Given the description of an element on the screen output the (x, y) to click on. 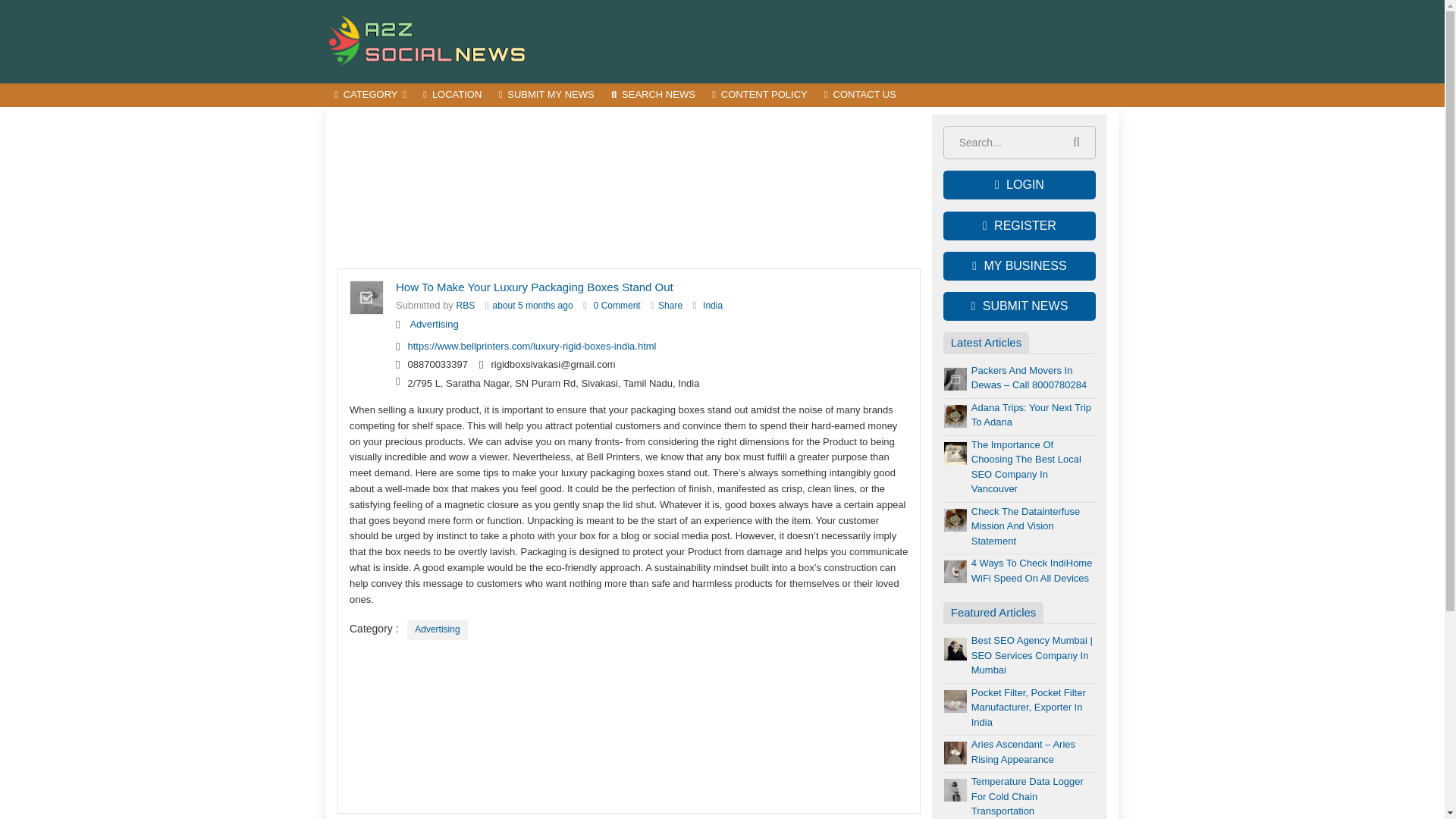
CONTACT US (859, 95)
Advertising (433, 324)
LOCATION (451, 95)
Advertising (437, 629)
India (712, 305)
REGISTER (1019, 225)
SEARCH NEWS (652, 95)
How to Make Your Luxury Packaging boxes Stand Out (617, 305)
Advertising (437, 629)
